Given the description of an element on the screen output the (x, y) to click on. 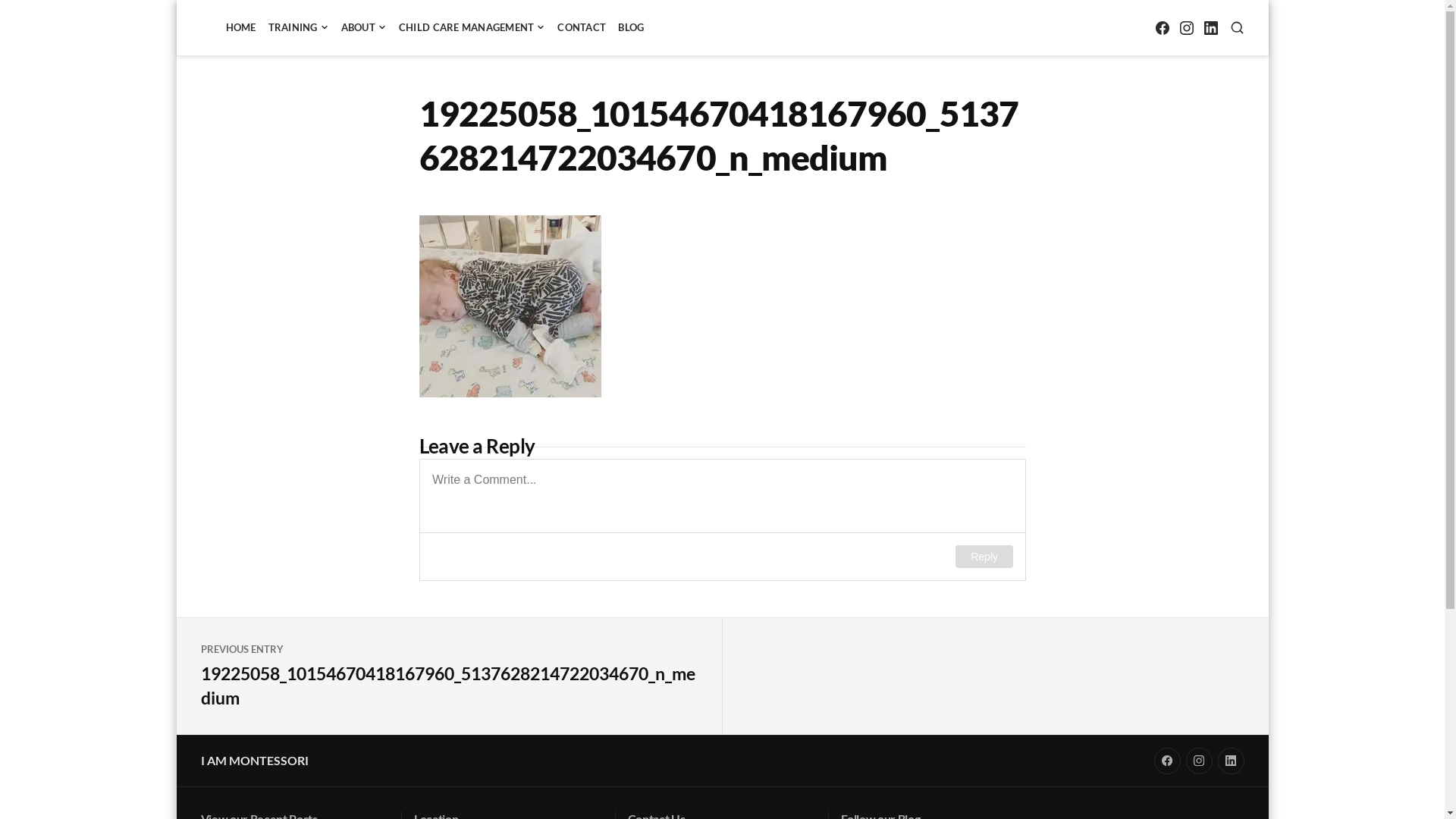
Facebook Element type: text (1161, 27)
BLOG Element type: text (630, 27)
Facebook Element type: text (1167, 760)
SEARCH Element type: text (1237, 27)
Instagram Element type: text (1185, 27)
ABOUT Element type: text (363, 27)
I AM MONTESSORI Element type: text (253, 760)
LinkedIn Element type: text (1210, 27)
CHILD CARE MANAGEMENT Element type: text (471, 27)
Instagram Element type: text (1199, 760)
LinkedIn Element type: text (1230, 760)
CONTACT Element type: text (581, 27)
HOME Element type: text (240, 27)
I AM MONTESSORI Element type: text (283, 42)
Comment Form Element type: hover (721, 519)
TRAINING Element type: text (298, 27)
